Given the description of an element on the screen output the (x, y) to click on. 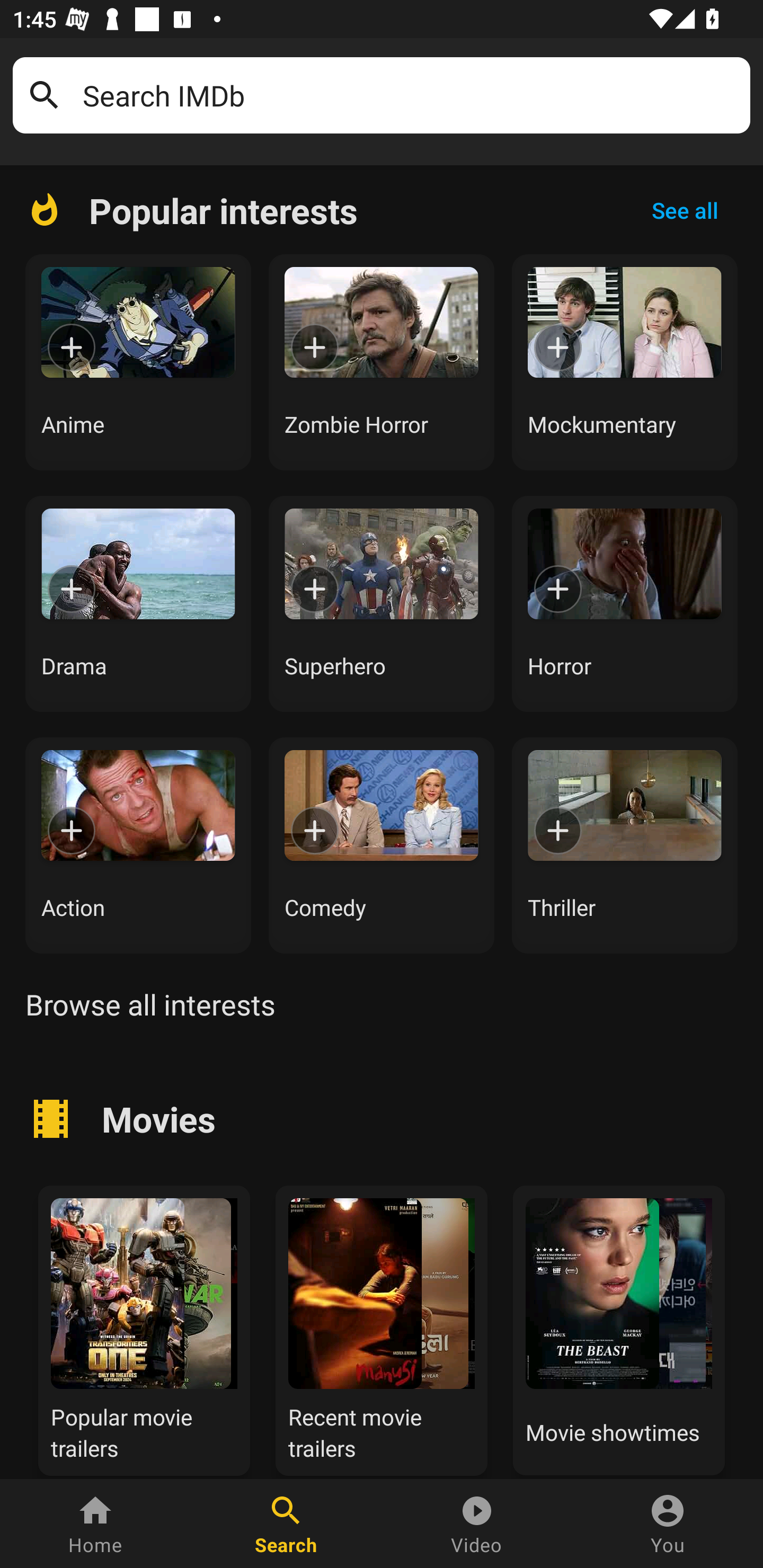
Search IMDb (410, 95)
See all (684, 209)
Anime (138, 361)
Zombie Horror (381, 361)
Mockumentary (624, 361)
Drama (138, 603)
Superhero (381, 603)
Horror (624, 603)
Action (138, 844)
Comedy (381, 844)
Thriller (624, 844)
Browse all interests (150, 1003)
Popular movie trailers (144, 1327)
Recent movie trailers (381, 1327)
Movie showtimes (618, 1327)
Home (95, 1523)
Video (476, 1523)
You (667, 1523)
